Given the description of an element on the screen output the (x, y) to click on. 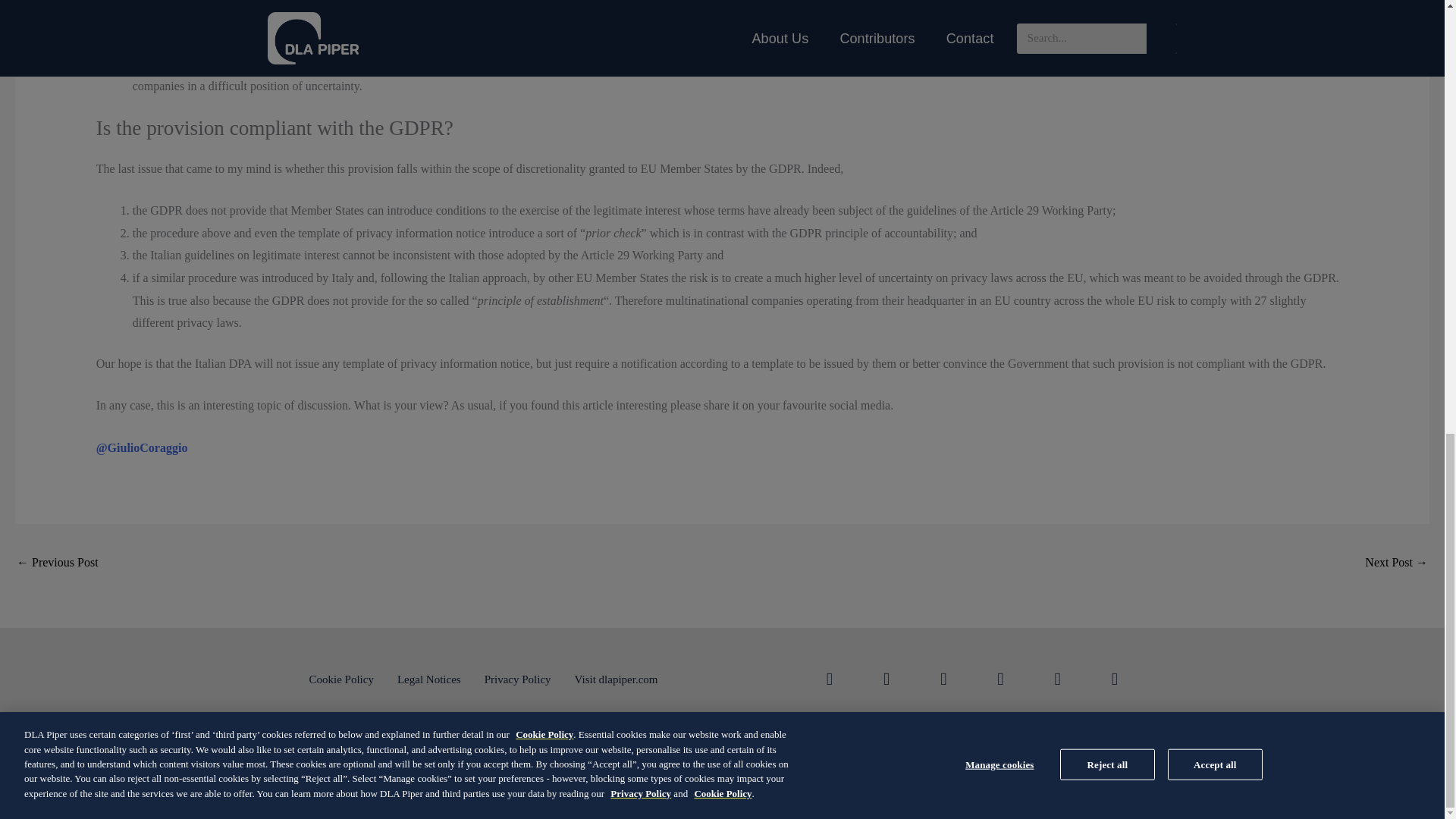
Youtube (1057, 679)
Legal Notices (473, 781)
Twitter (886, 679)
Legal Notices (429, 678)
Visit dlapiper.com (616, 678)
Linkedin (829, 679)
Facebook (943, 679)
Legislative Decree no. 63 of 11 May 2018 (57, 563)
Cookie Policy (341, 678)
Weixin (1114, 679)
